Given the description of an element on the screen output the (x, y) to click on. 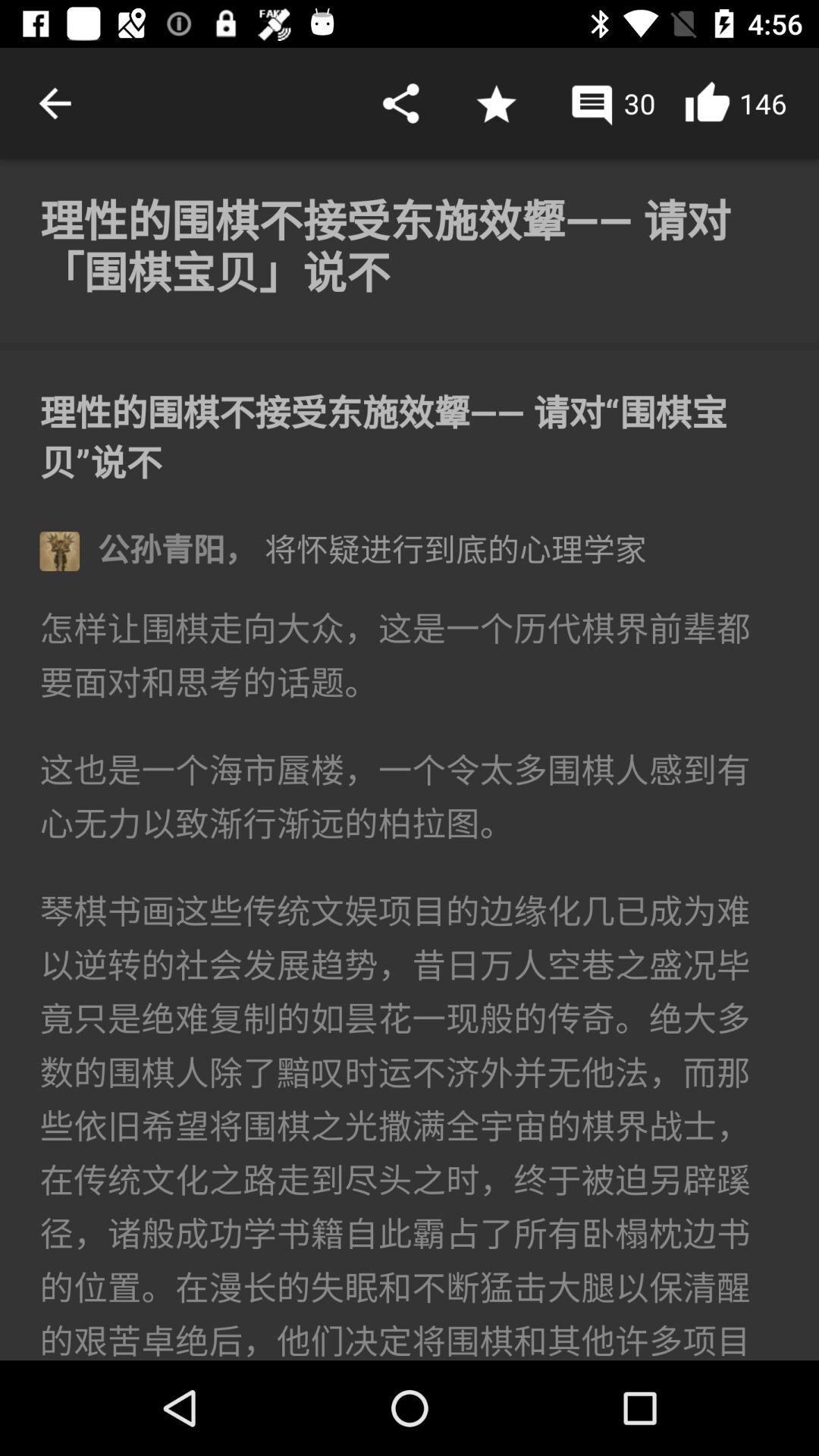
share (400, 103)
